Given the description of an element on the screen output the (x, y) to click on. 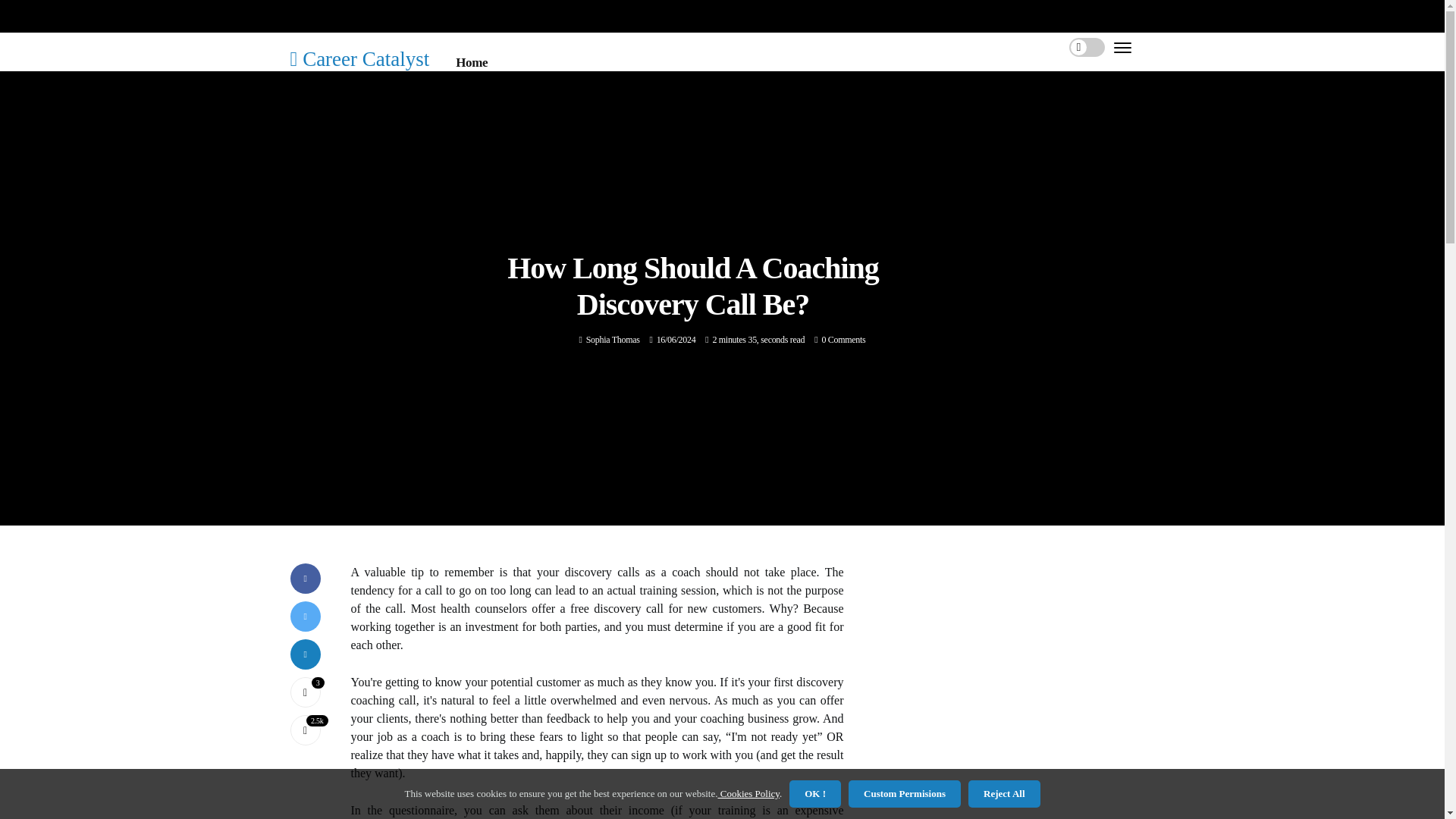
3 (304, 692)
Posts by Sophia Thomas (613, 339)
Career Catalyst (359, 58)
0 Comments (842, 339)
Sophia Thomas (613, 339)
Like (304, 692)
